Given the description of an element on the screen output the (x, y) to click on. 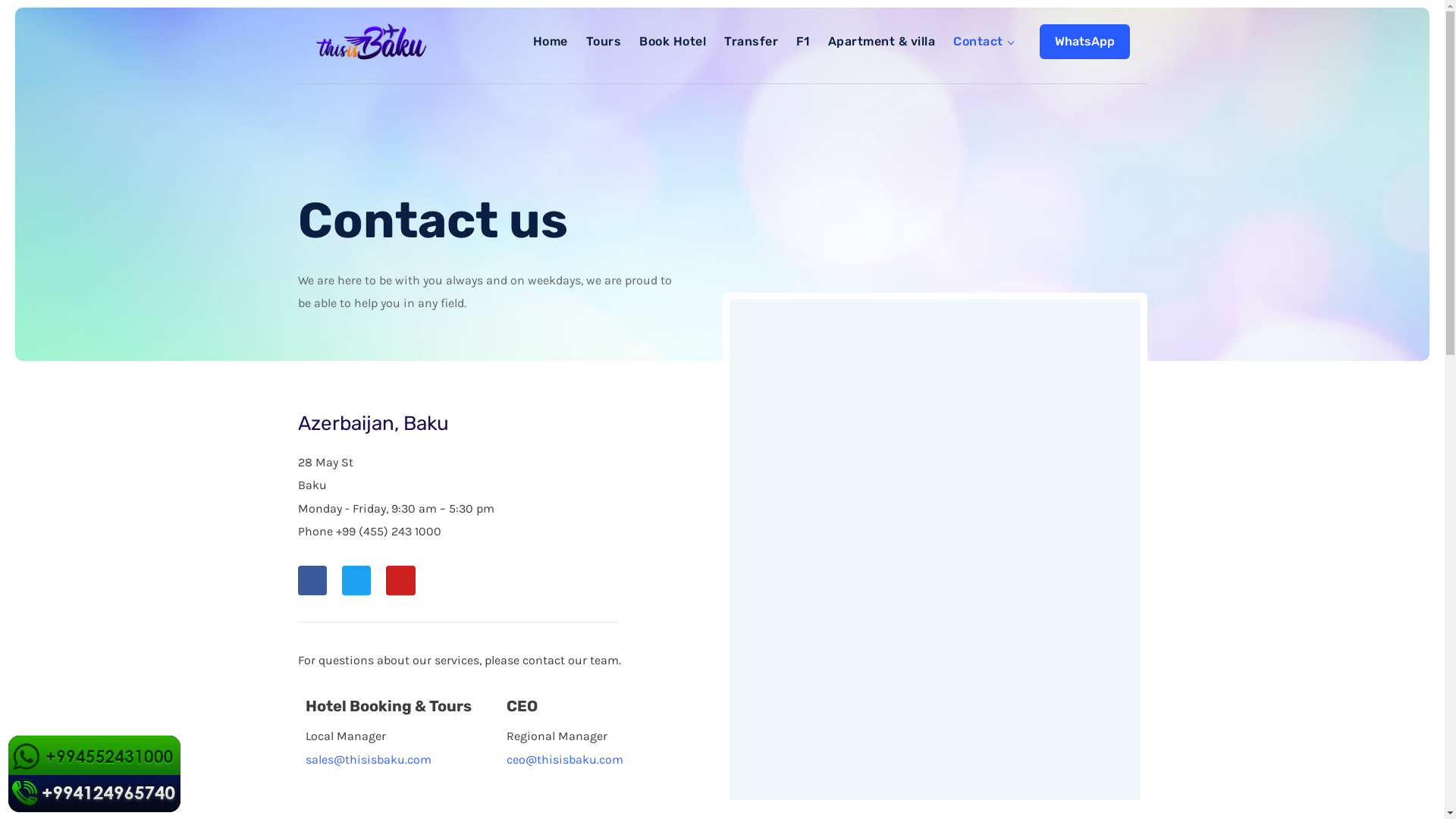
F1 Element type: text (803, 41)
Book Hotel Element type: text (672, 41)
Apartment & villa Element type: text (881, 41)
Contact Element type: text (983, 41)
Transfer Element type: text (751, 41)
Tours Element type: text (603, 41)
Home Element type: text (550, 41)
WhatsApp Element type: text (1083, 41)
This Is Baku Travel, Baku Element type: hover (934, 549)
